Given the description of an element on the screen output the (x, y) to click on. 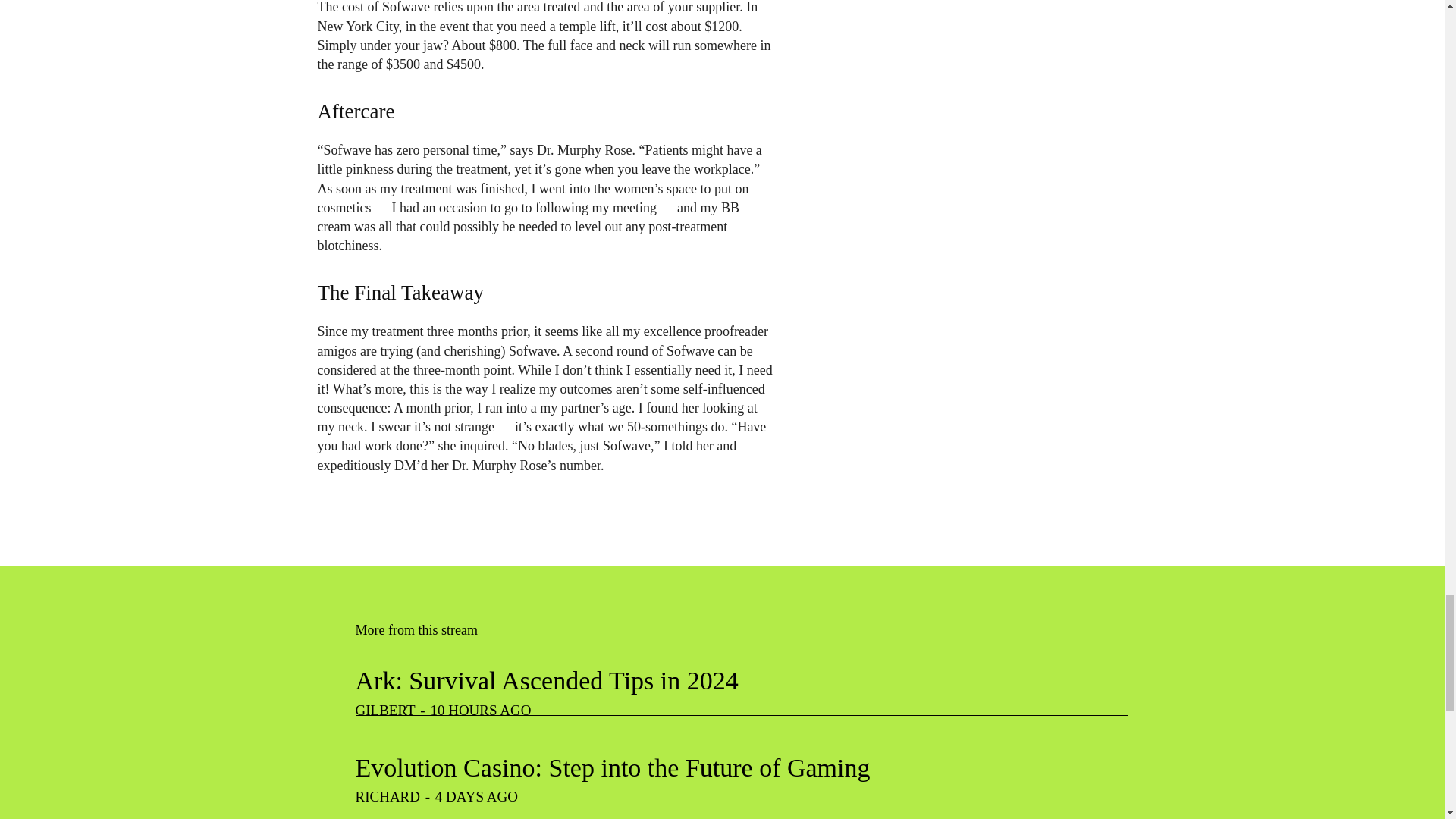
Ark: Survival Ascended Tips in 2024 (546, 680)
Ark: Survival Ascended Tips in 2024 (546, 680)
Evolution Casino: Step into the Future of Gaming (612, 767)
GILBERT (384, 709)
Evolution Casino: Step into the Future of Gaming (612, 767)
